Given the description of an element on the screen output the (x, y) to click on. 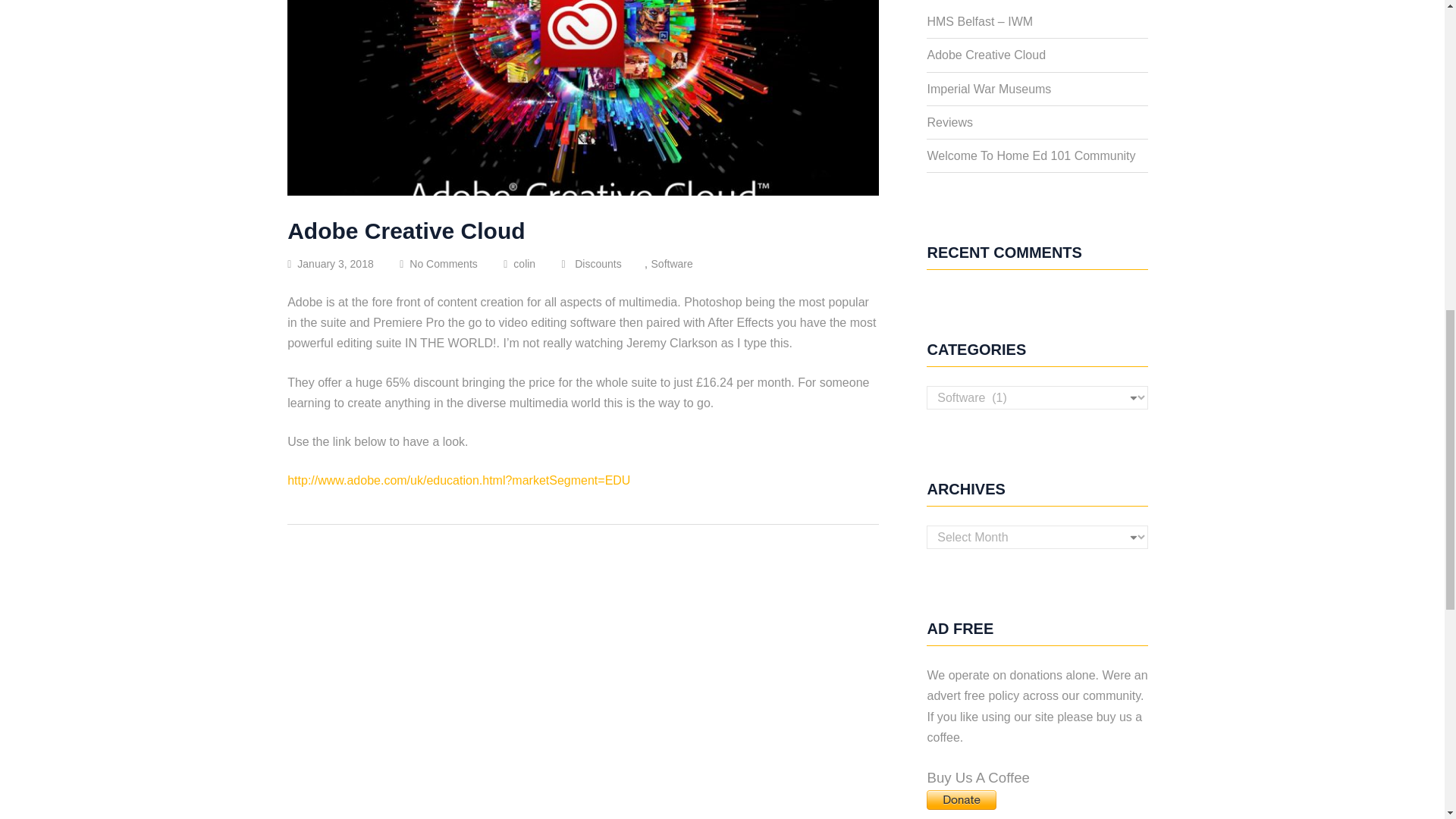
Adobe Creative Cloud (985, 54)
Discounts (609, 263)
Adobe Creative Cloud (405, 230)
Reviews (949, 122)
January 3, 2018 (341, 263)
colin (530, 263)
No Comments (454, 263)
Welcome To Home Ed 101 Community (1030, 155)
Imperial War Museums (988, 88)
Software (683, 263)
